Given the description of an element on the screen output the (x, y) to click on. 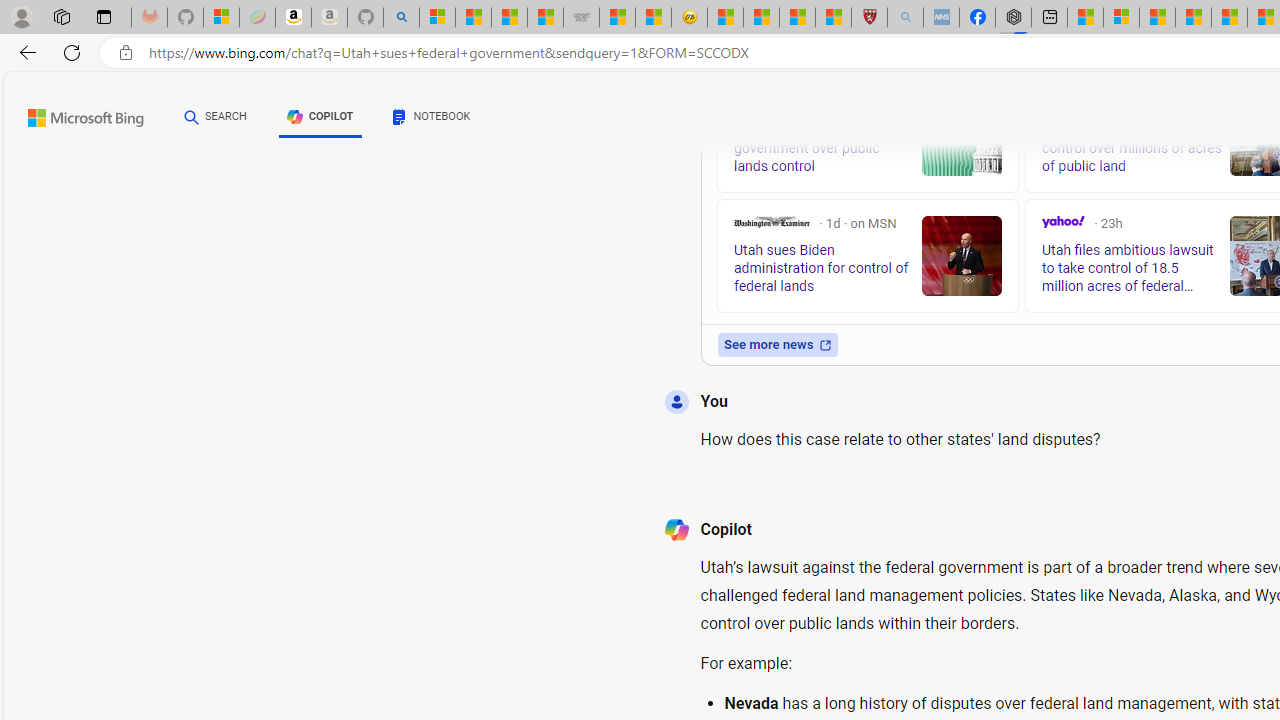
SEARCH (215, 116)
See more news (777, 344)
Utah sues federal government over public lands control (961, 135)
